Given the description of an element on the screen output the (x, y) to click on. 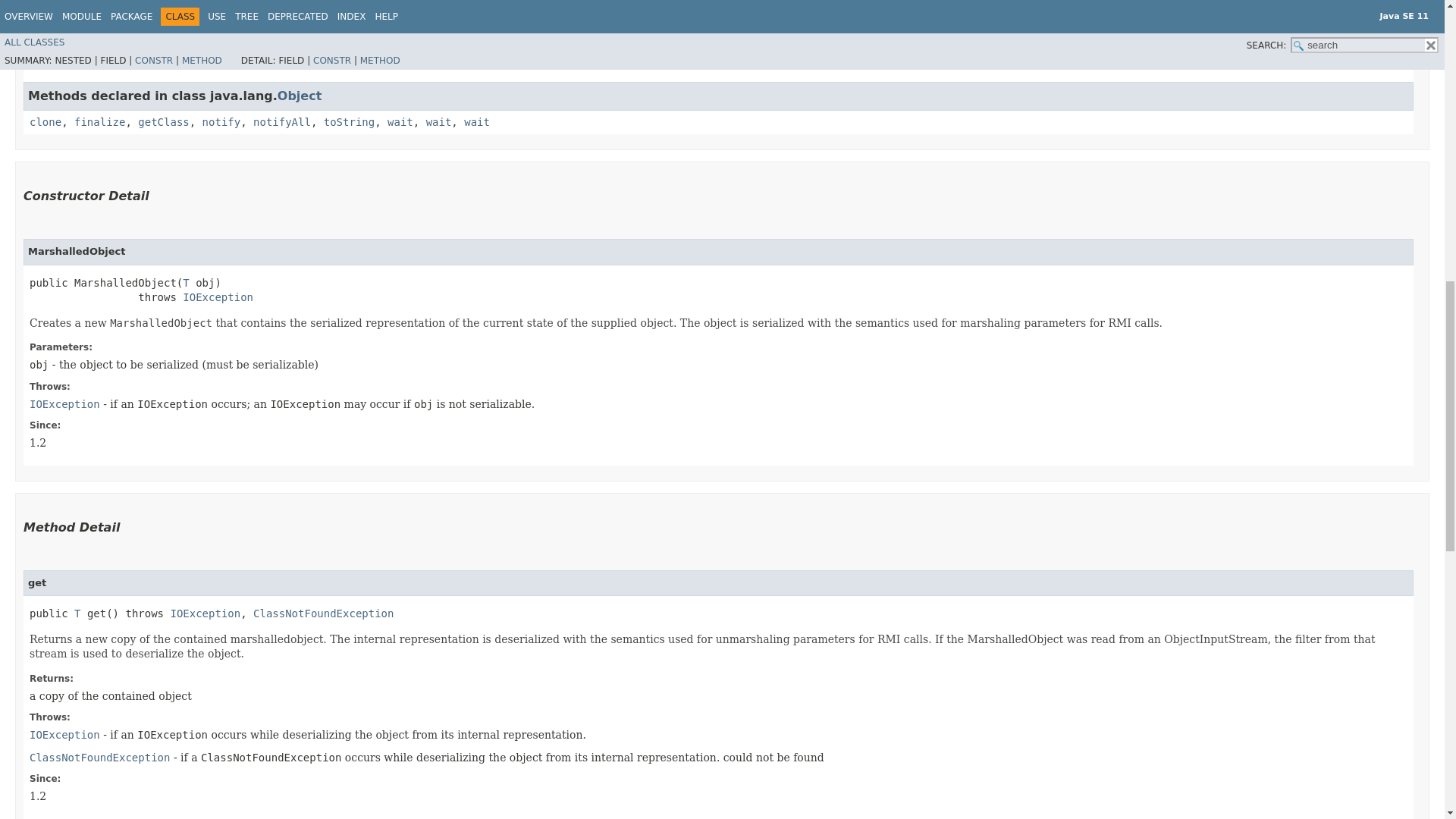
class in java.io (64, 734)
class in java.io (64, 404)
clone (45, 121)
class in java.io (218, 297)
finalize (99, 121)
class in java.lang (323, 613)
hashCode (327, 44)
getClass (163, 121)
Object (299, 95)
get (311, 17)
class in java.lang (299, 95)
class in java.io (205, 613)
